Given the description of an element on the screen output the (x, y) to click on. 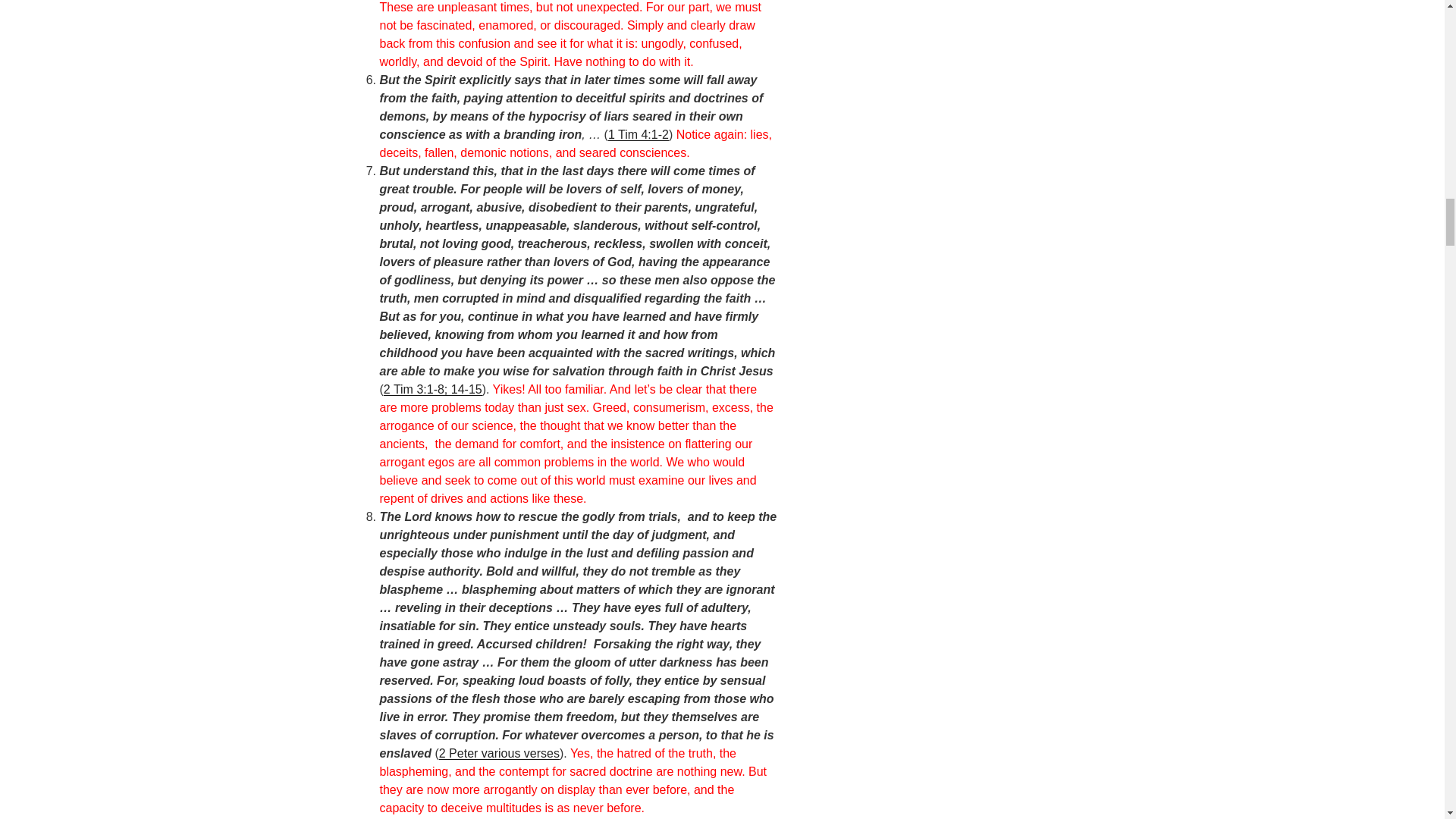
2 Peter various verses (499, 753)
1 Tim 4:1-2 (638, 133)
2 Tim 3:1-8; 14-15 (432, 389)
